Given the description of an element on the screen output the (x, y) to click on. 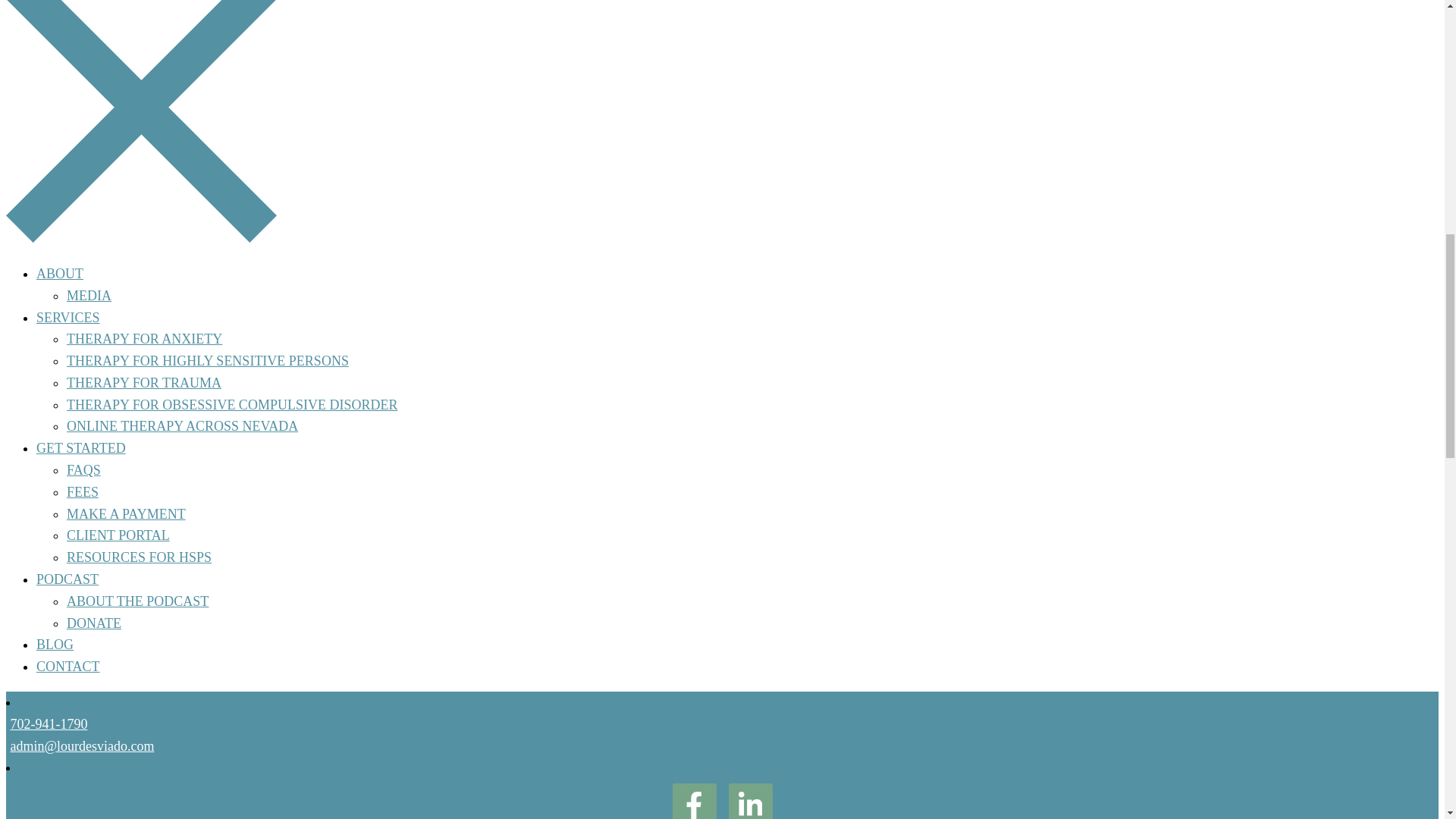
THERAPY FOR HIGHLY SENSITIVE PERSONS (207, 360)
ABOUT (59, 273)
THERAPY FOR OBSESSIVE COMPULSIVE DISORDER (231, 404)
SERVICES (68, 316)
THERAPY FOR ANXIETY (144, 338)
MEDIA (89, 295)
THERAPY FOR TRAUMA (143, 382)
